Given the description of an element on the screen output the (x, y) to click on. 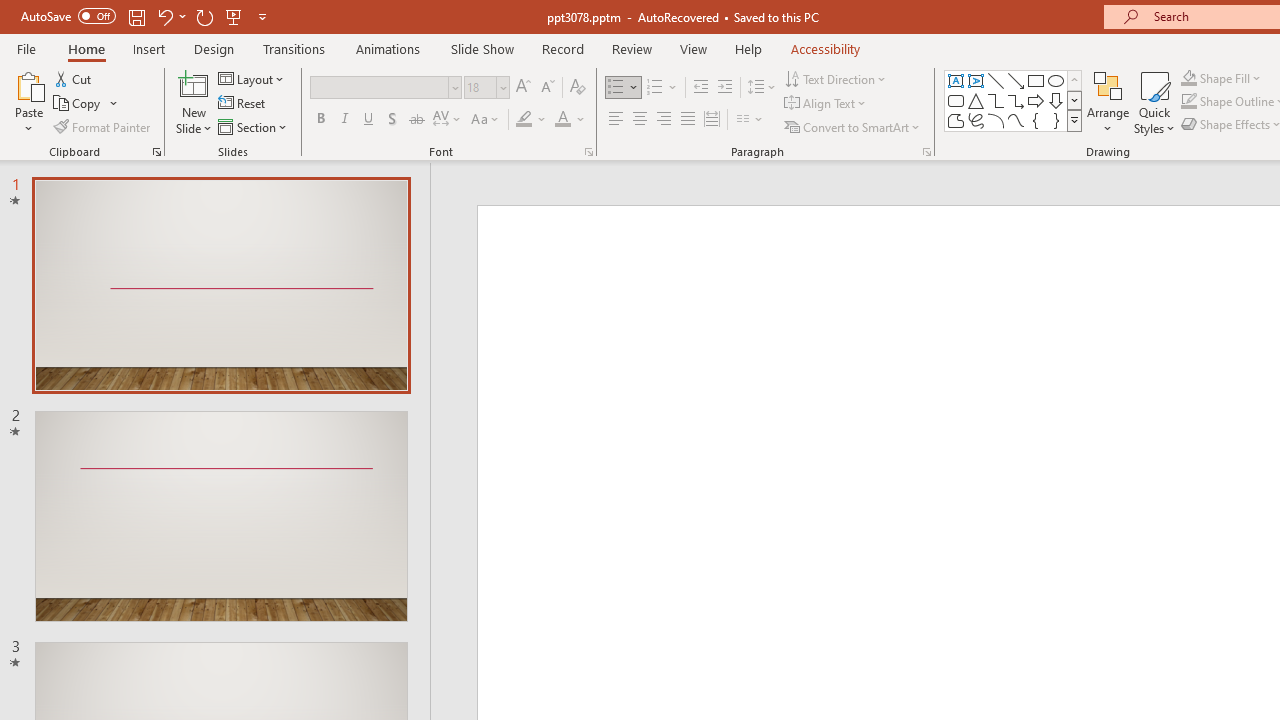
Shape Fill Dark Green, Accent 2 (1188, 78)
